Given the description of an element on the screen output the (x, y) to click on. 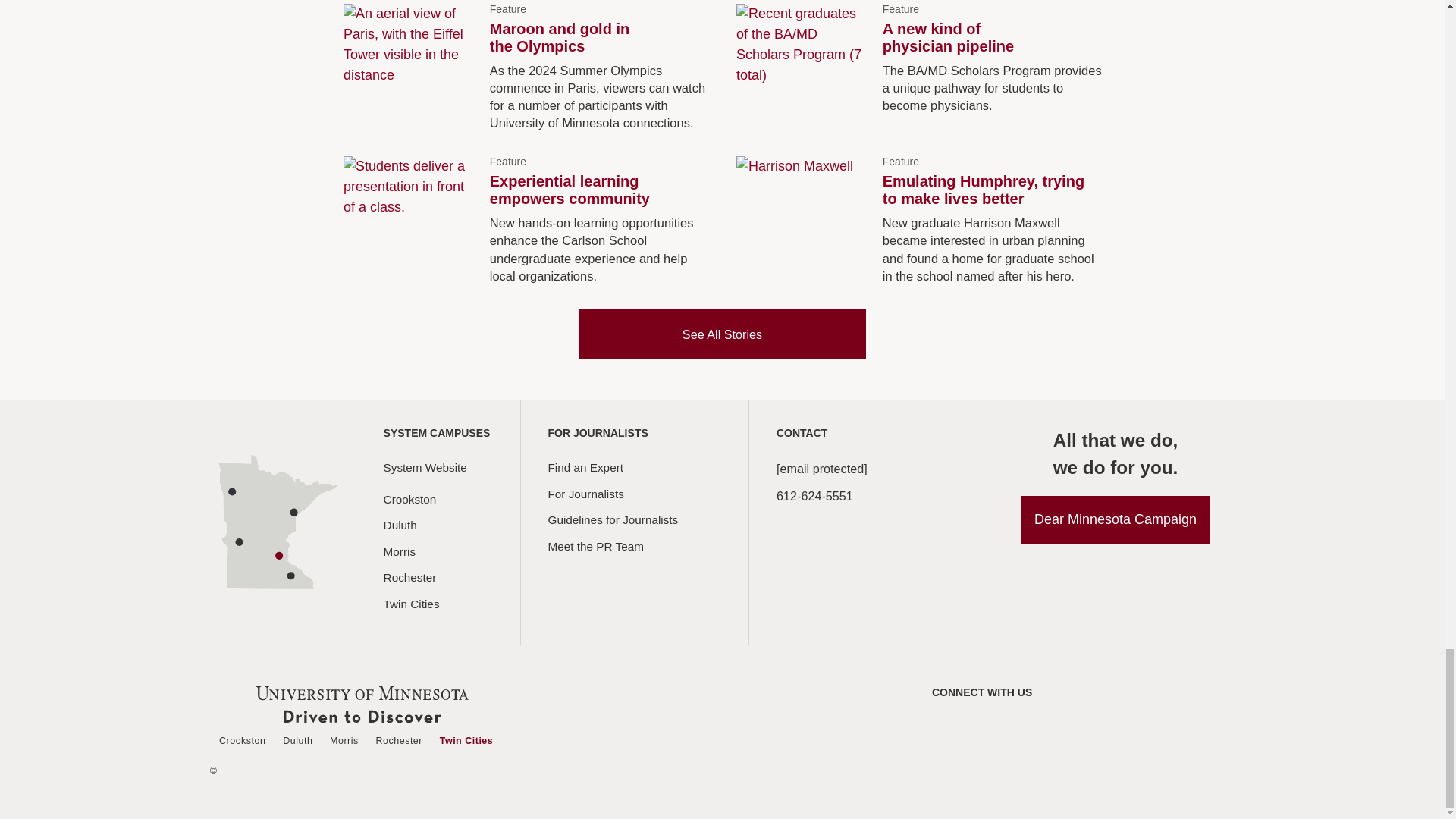
University of Minnesota Morris (231, 500)
University of Minnesota Twin Cities (250, 507)
University of Minnesota Duluth (258, 485)
Wordmark of the University of Minnesota Twin Cities (361, 704)
University of Minnesota Crookston (227, 475)
University of Minnesota Rochester (256, 517)
